Given the description of an element on the screen output the (x, y) to click on. 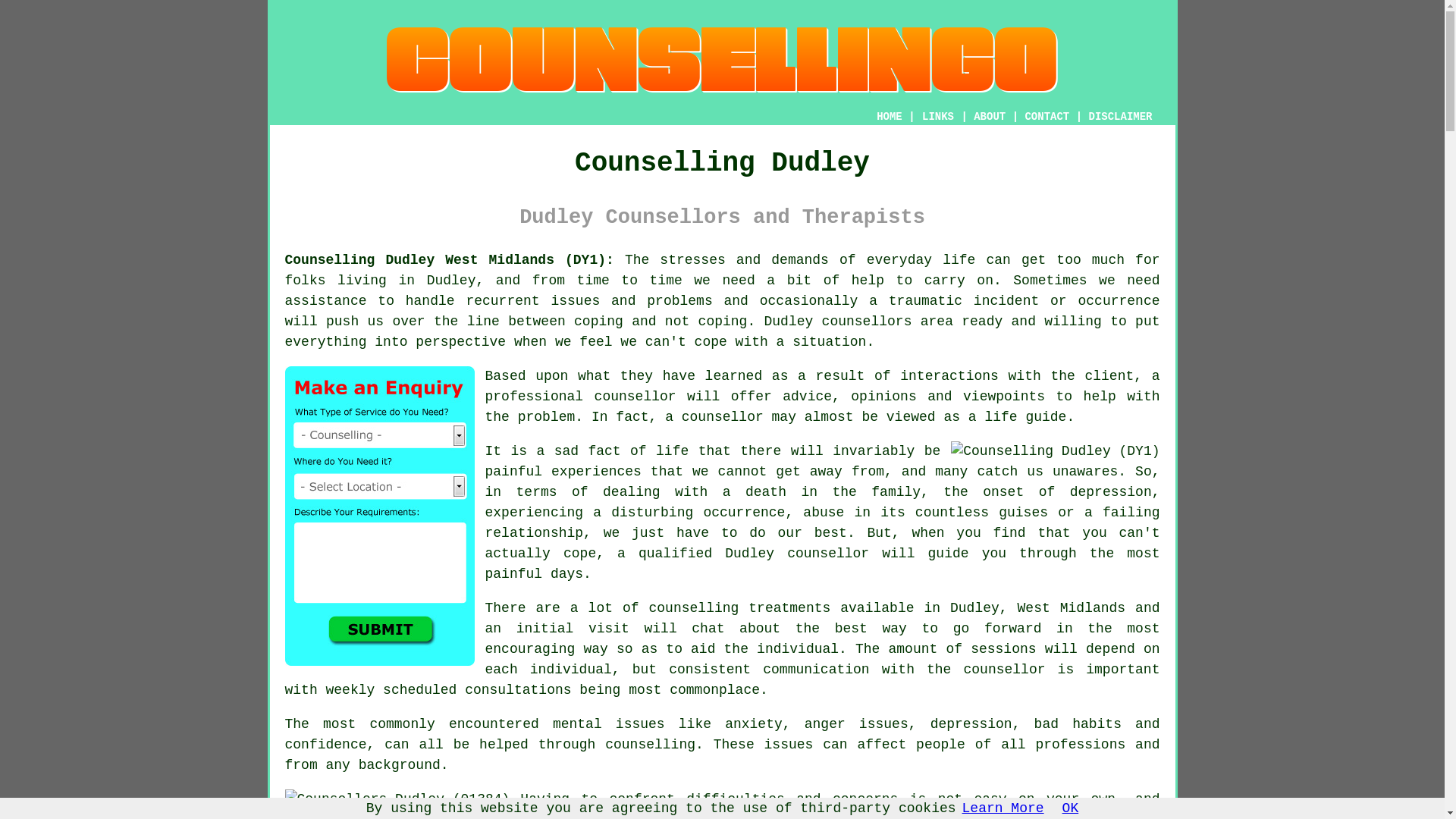
Counselling Dudley (721, 60)
LINKS (938, 116)
HOME (889, 116)
